Given the description of an element on the screen output the (x, y) to click on. 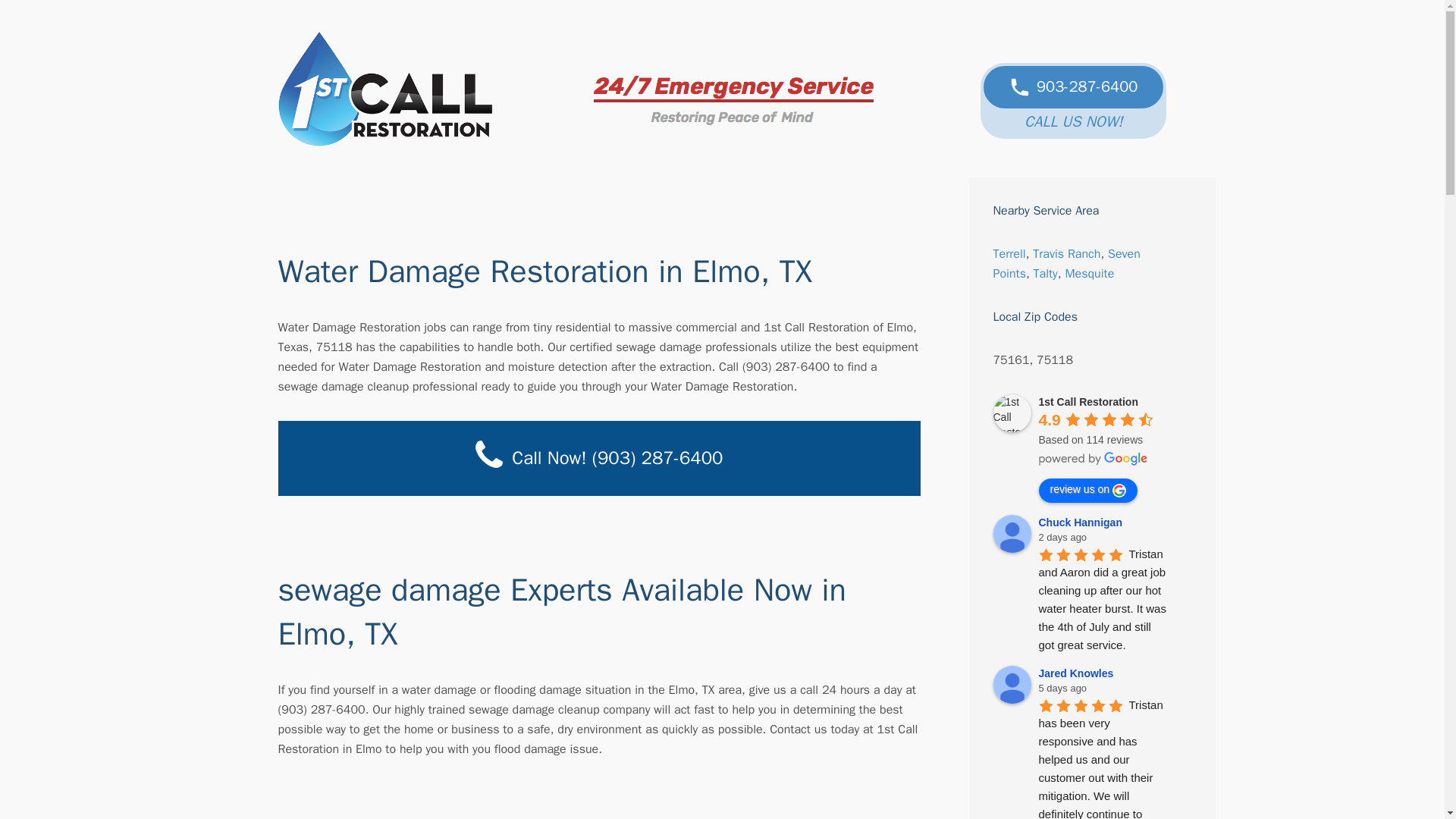
Jared Knowles (1011, 684)
1st Call Restoration (385, 88)
903-287-6400 (1073, 87)
Chuck Hannigan (1011, 533)
powered by Google (1093, 459)
1st Call Restoration (1011, 412)
Terrell (1009, 253)
